Given the description of an element on the screen output the (x, y) to click on. 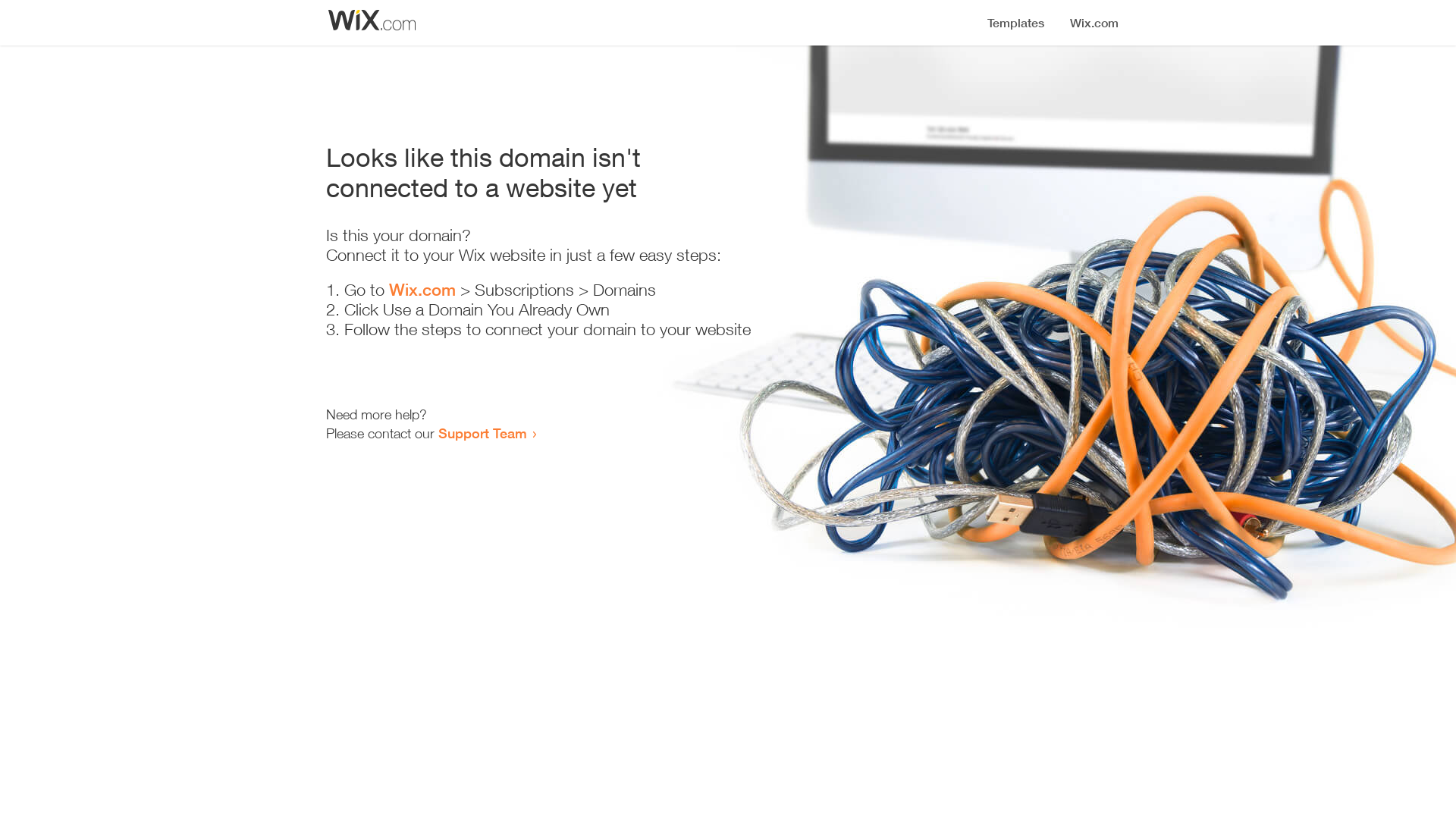
Support Team Element type: text (482, 432)
Wix.com Element type: text (422, 289)
